Given the description of an element on the screen output the (x, y) to click on. 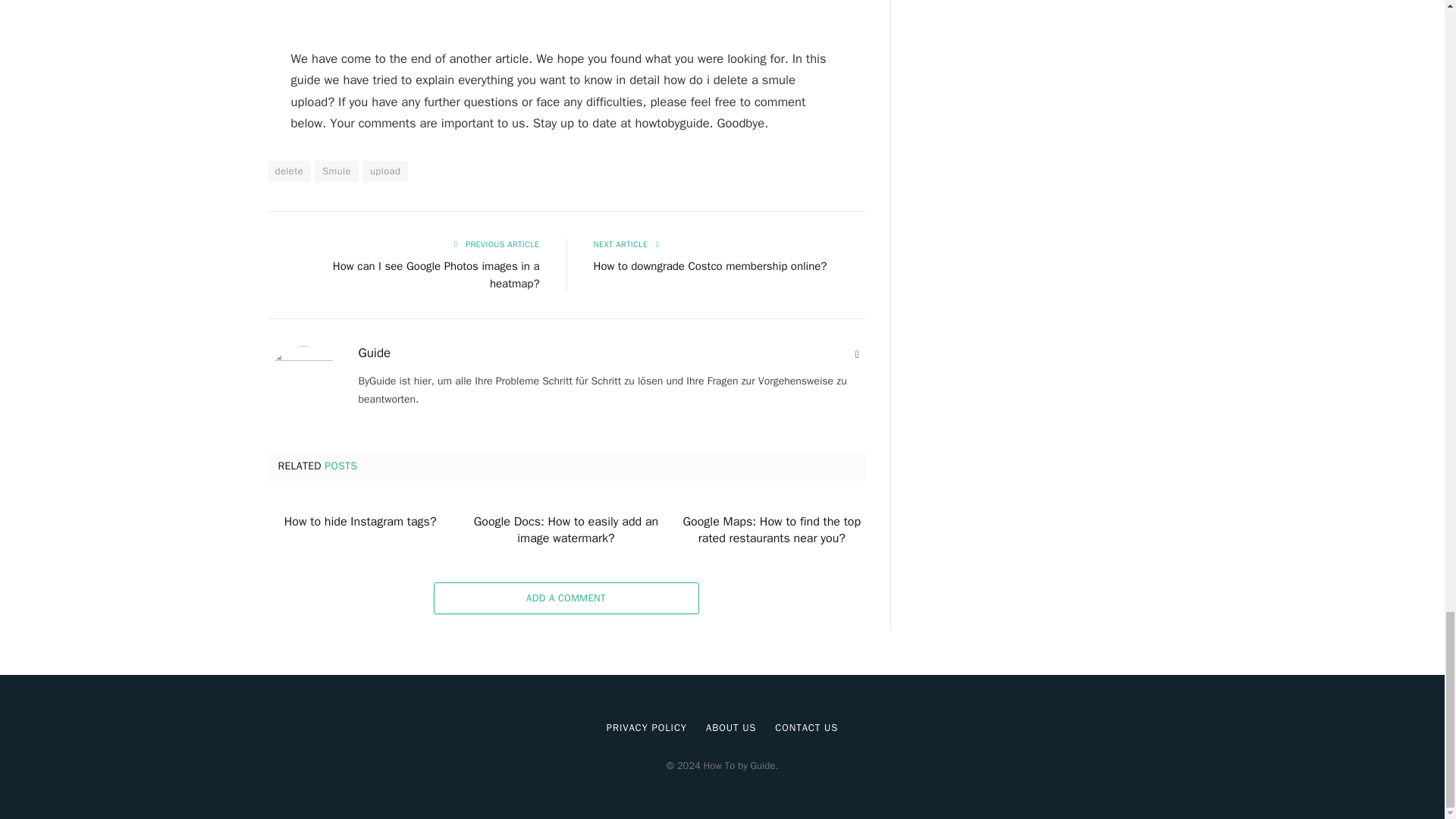
How can I see Google Photos images in a heatmap? (436, 274)
Smule (336, 170)
Website (856, 354)
How to downgrade Costco membership online? (709, 265)
upload (385, 170)
delete (288, 170)
Posts by Guide (374, 353)
